Given the description of an element on the screen output the (x, y) to click on. 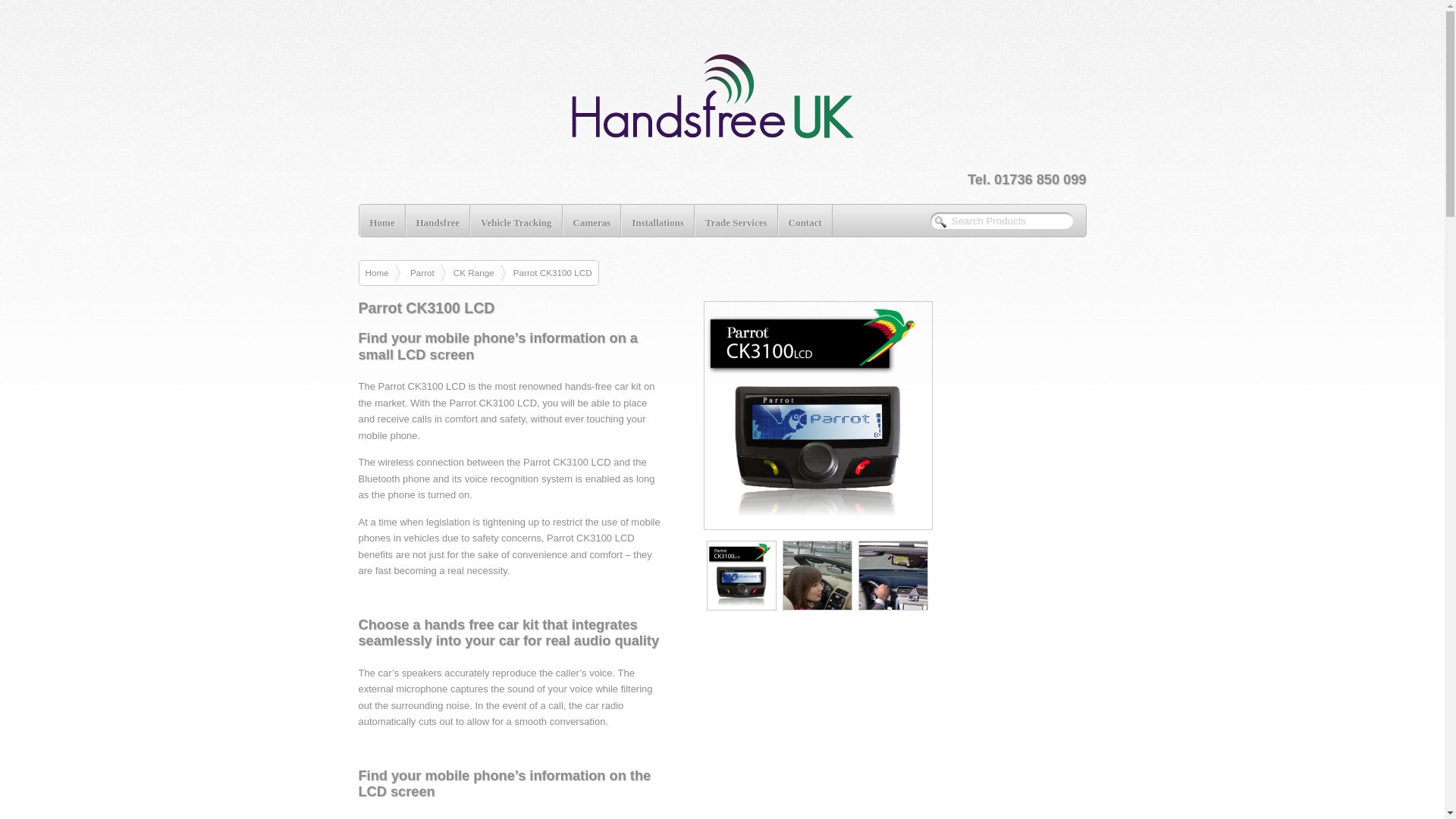
Vehicle Tracking (516, 220)
Parrot (427, 272)
Search Products (1014, 221)
CK Range (478, 272)
Trade Services (735, 220)
Looking good, and keeping safe (893, 575)
Handsfree (438, 220)
Contact (804, 220)
Stylish hands free (741, 575)
Home (382, 220)
Parrot CK3100 LCD (894, 415)
Cameras (591, 220)
Installations (657, 220)
Search Products (1014, 221)
Home (382, 272)
